Given the description of an element on the screen output the (x, y) to click on. 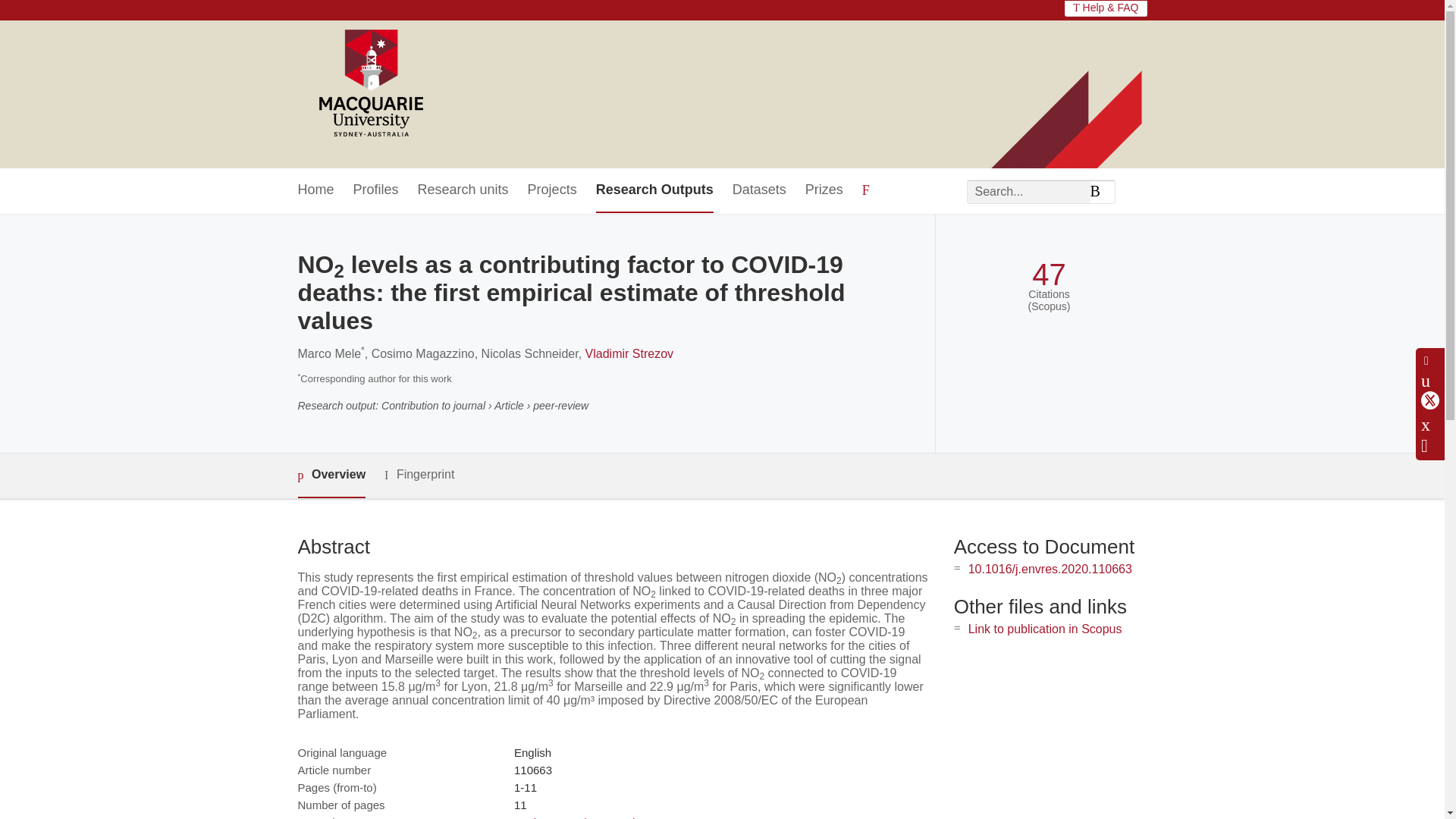
47 (1048, 274)
Vladimir Strezov (628, 353)
Macquarie University Home (369, 84)
Environmental Research (576, 817)
Link to publication in Scopus (1045, 628)
Research units (462, 190)
Profiles (375, 190)
Research Outputs (654, 190)
Fingerprint (419, 474)
